Given the description of an element on the screen output the (x, y) to click on. 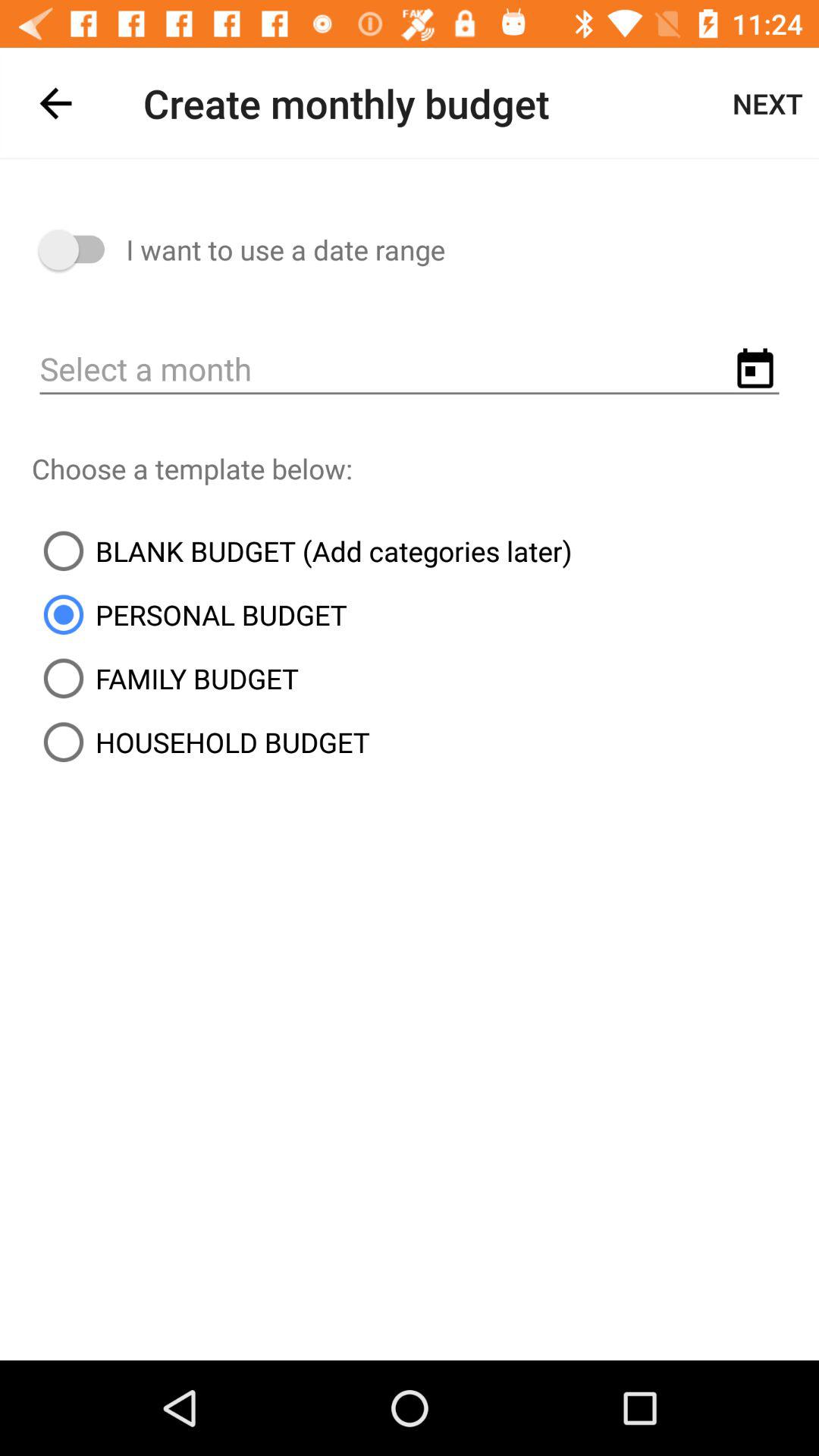
turn off icon to the left of the create monthly budget icon (55, 103)
